Given the description of an element on the screen output the (x, y) to click on. 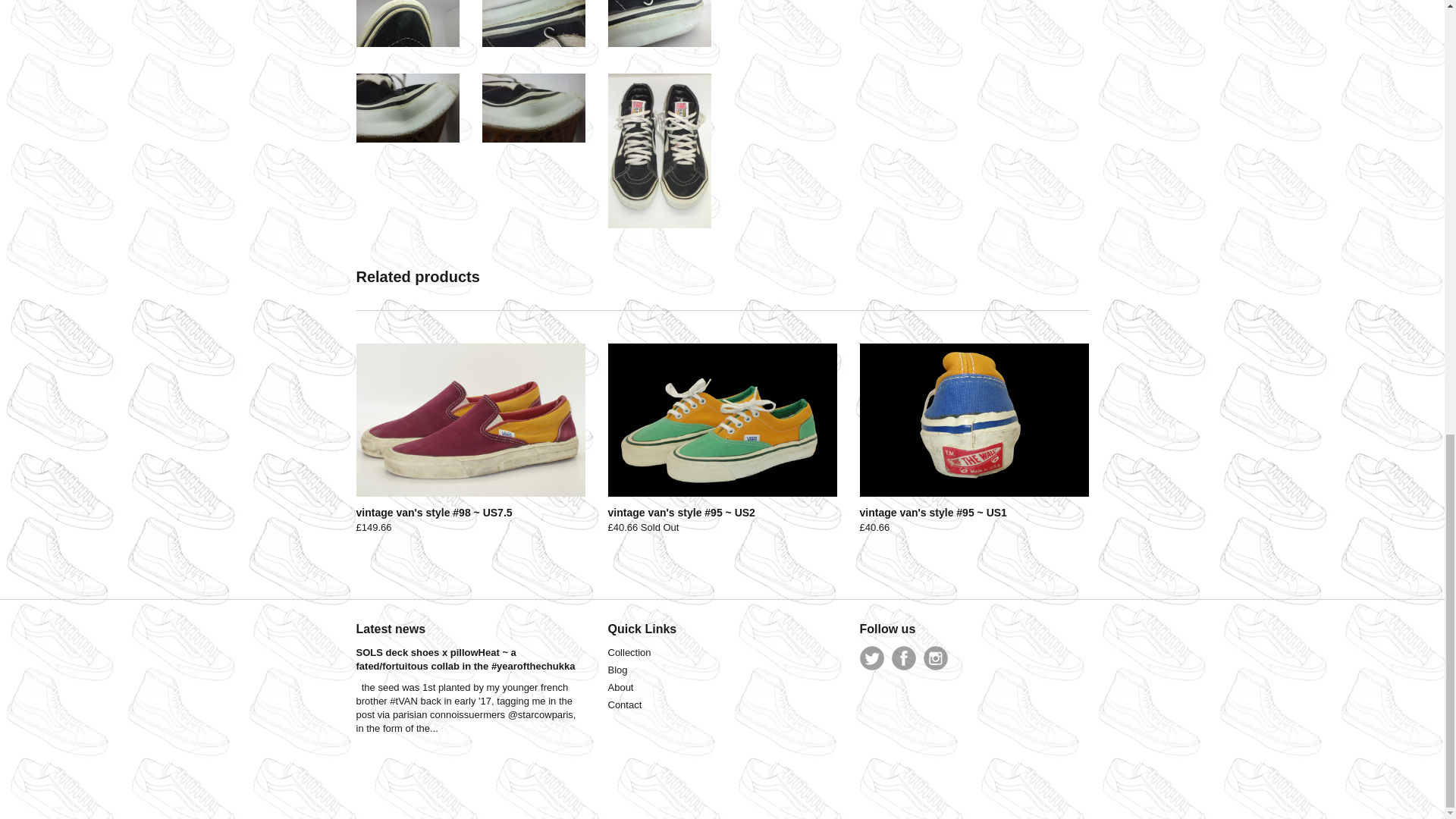
Blog (617, 669)
theothersideofthepillow on Twitter (871, 658)
theothersideofthepillow on Instagram (935, 658)
Contact (625, 704)
Latest news (391, 628)
Collection (629, 652)
theothersideofthepillow on Facebook (903, 658)
Collection (629, 652)
About (620, 686)
